Given the description of an element on the screen output the (x, y) to click on. 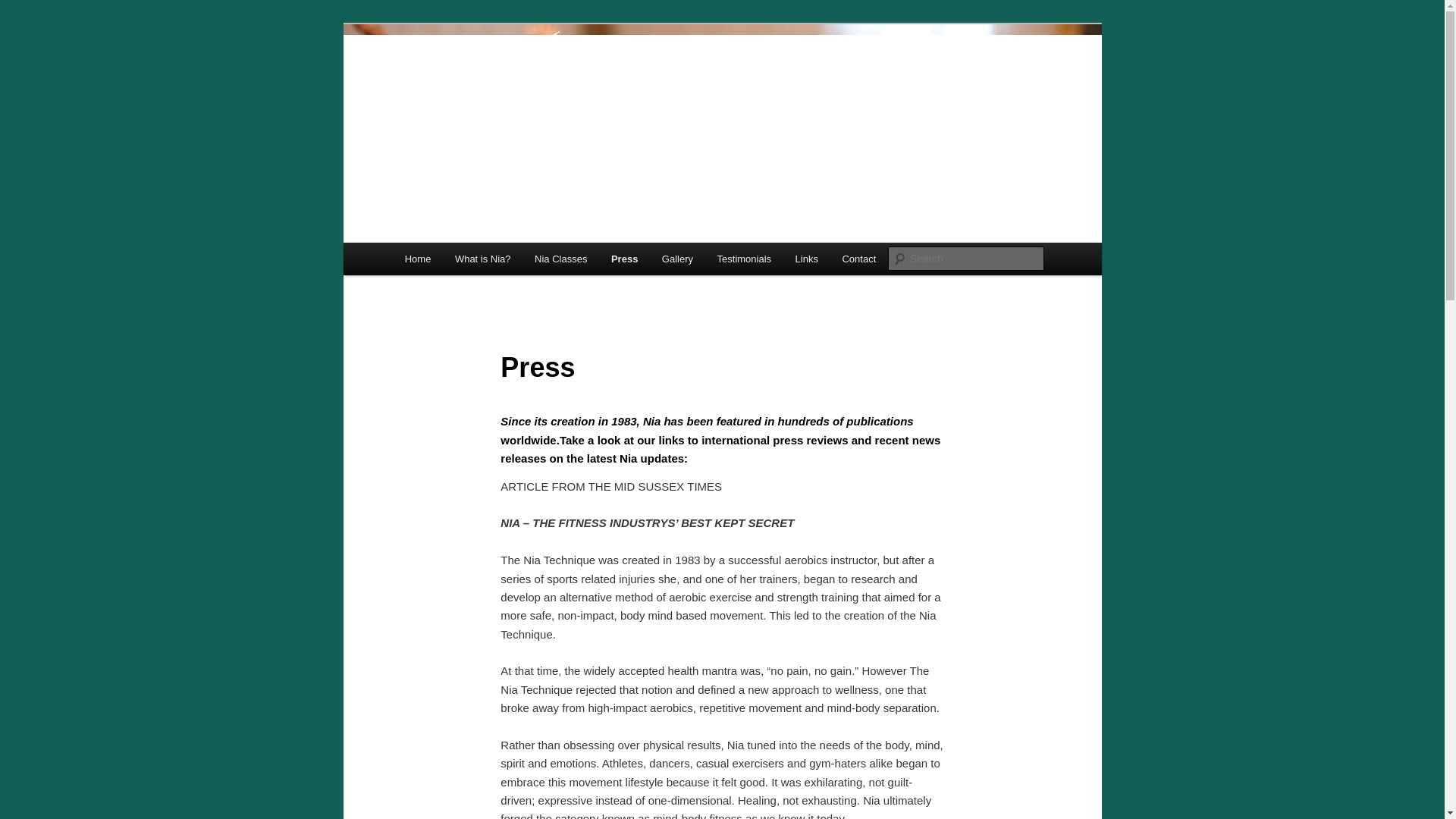
Links (806, 258)
Contact (858, 258)
niamidsussex.com (502, 78)
Press (623, 258)
Home (417, 258)
What is Nia? (482, 258)
Testimonials (743, 258)
Nia Classes (560, 258)
Gallery (676, 258)
